Given the description of an element on the screen output the (x, y) to click on. 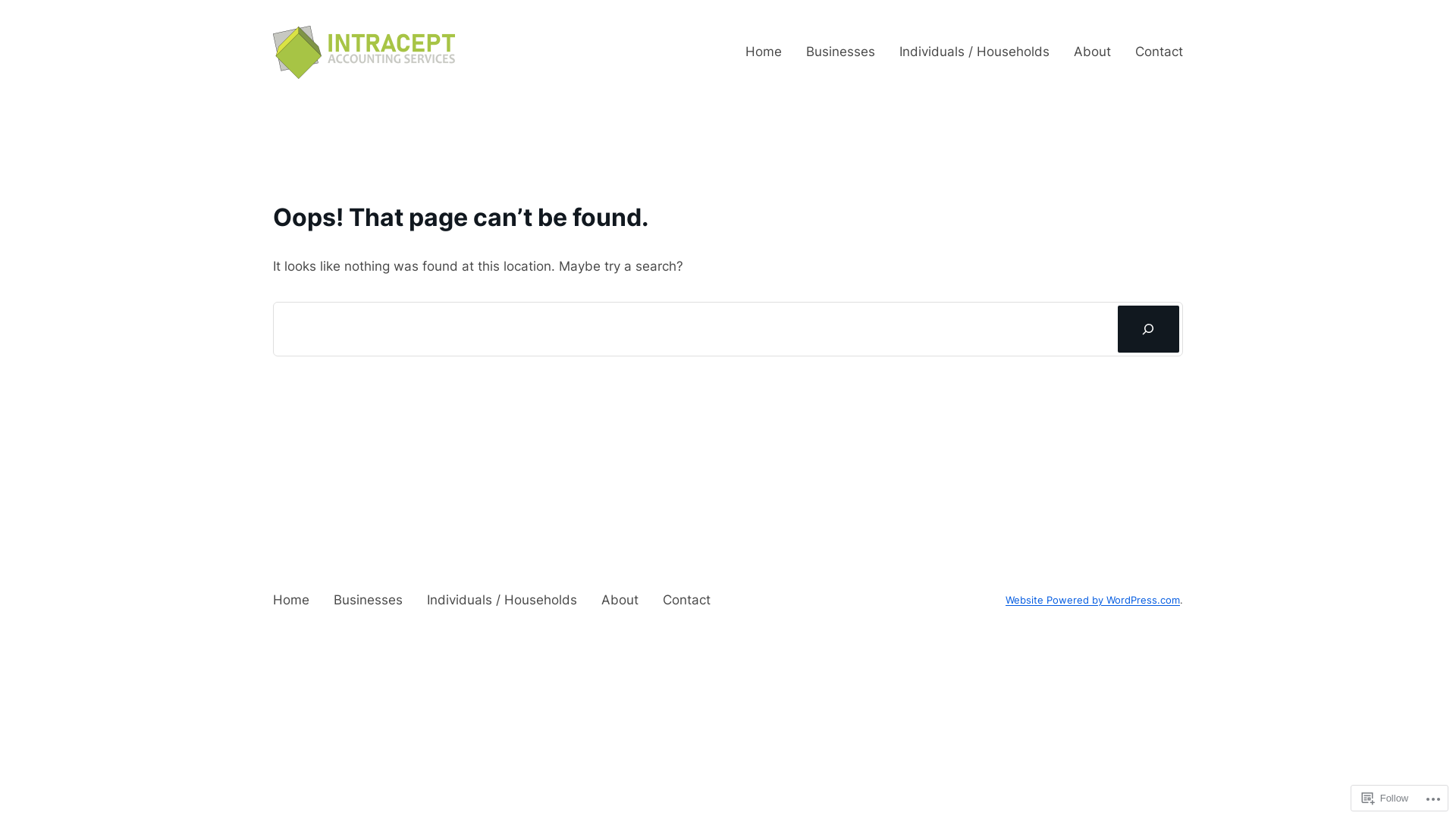
Follow Element type: text (1385, 797)
Contact Element type: text (1159, 51)
Website Powered by WordPress.com Element type: text (1092, 599)
About Element type: text (619, 599)
Home Element type: text (291, 599)
Individuals / Households Element type: text (501, 599)
Contact Element type: text (686, 599)
Home Element type: text (763, 51)
Individuals / Households Element type: text (974, 51)
About Element type: text (1091, 51)
Businesses Element type: text (367, 599)
Businesses Element type: text (840, 51)
